Given the description of an element on the screen output the (x, y) to click on. 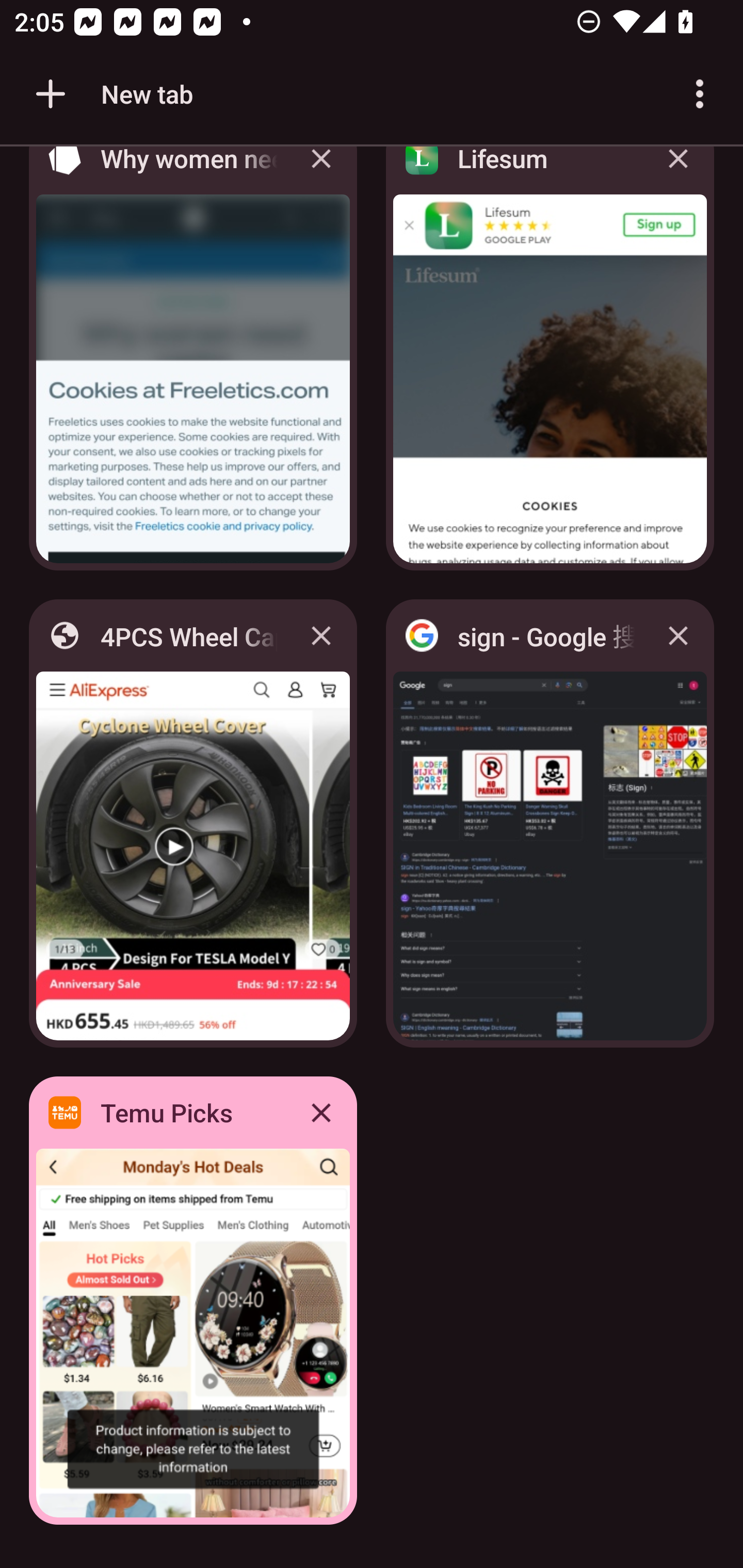
New tab (111, 93)
Customize and control Google Chrome (699, 93)
Close Why women need carbs tab (320, 173)
Lifesum Lifesum, tab Close Lifesum tab (549, 364)
Close Lifesum tab (677, 173)
Close sign - Google 搜索 tab (677, 635)
Temu Picks Temu Picks, tab Close Temu Picks tab (192, 1300)
Close Temu Picks tab (320, 1112)
